Given the description of an element on the screen output the (x, y) to click on. 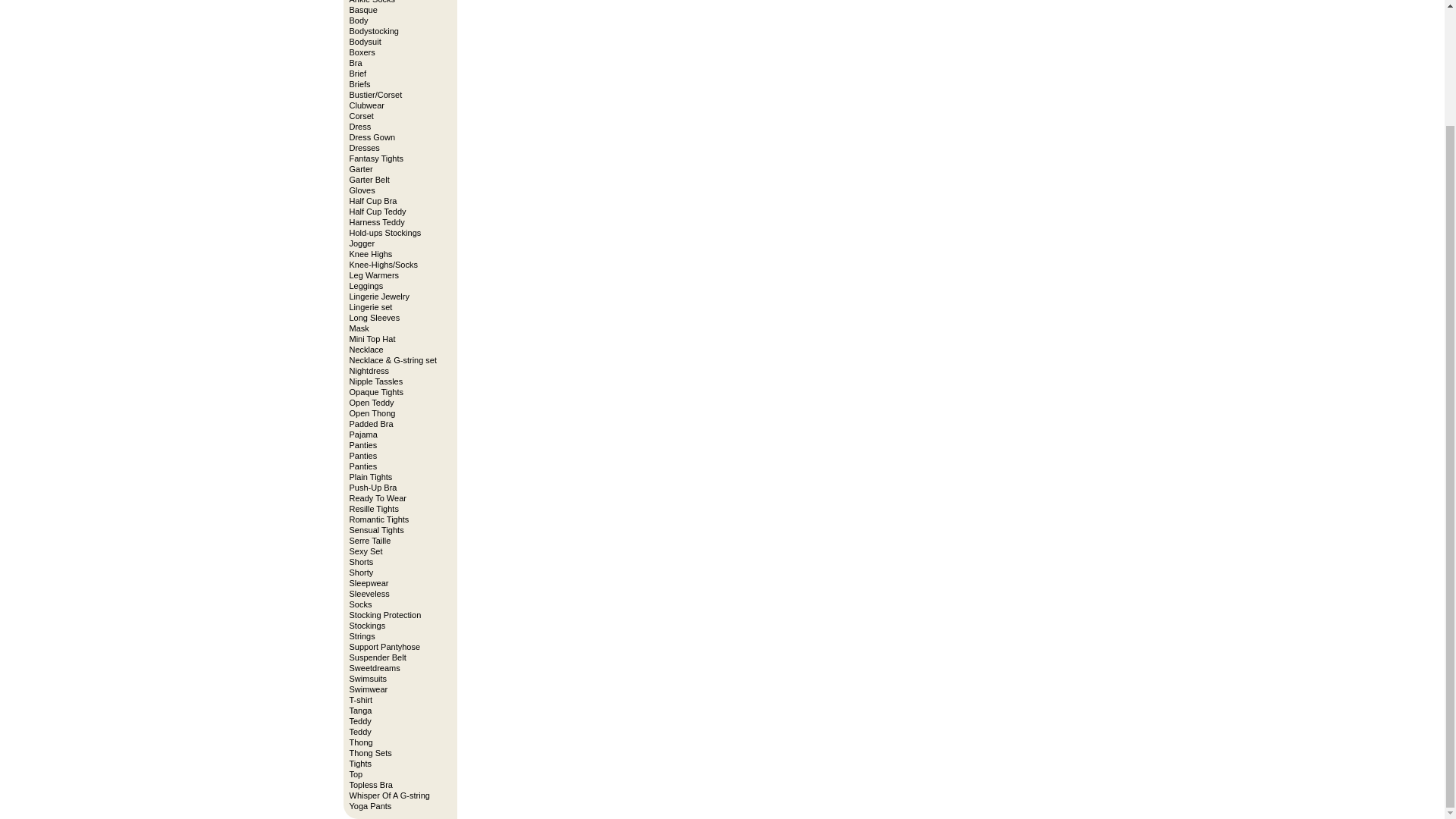
Bra (397, 62)
Knee Highs (397, 253)
Dress Gown (397, 136)
Clubwear (397, 104)
Dress (397, 126)
Brief (397, 72)
Dresses (397, 147)
Briefs (397, 83)
Boxers (397, 51)
Garter Belt (397, 179)
Body (397, 20)
Hold-ups Stockings (397, 232)
Half Cup Bra (397, 200)
Bodysuit (397, 41)
Corset (397, 115)
